Given the description of an element on the screen output the (x, y) to click on. 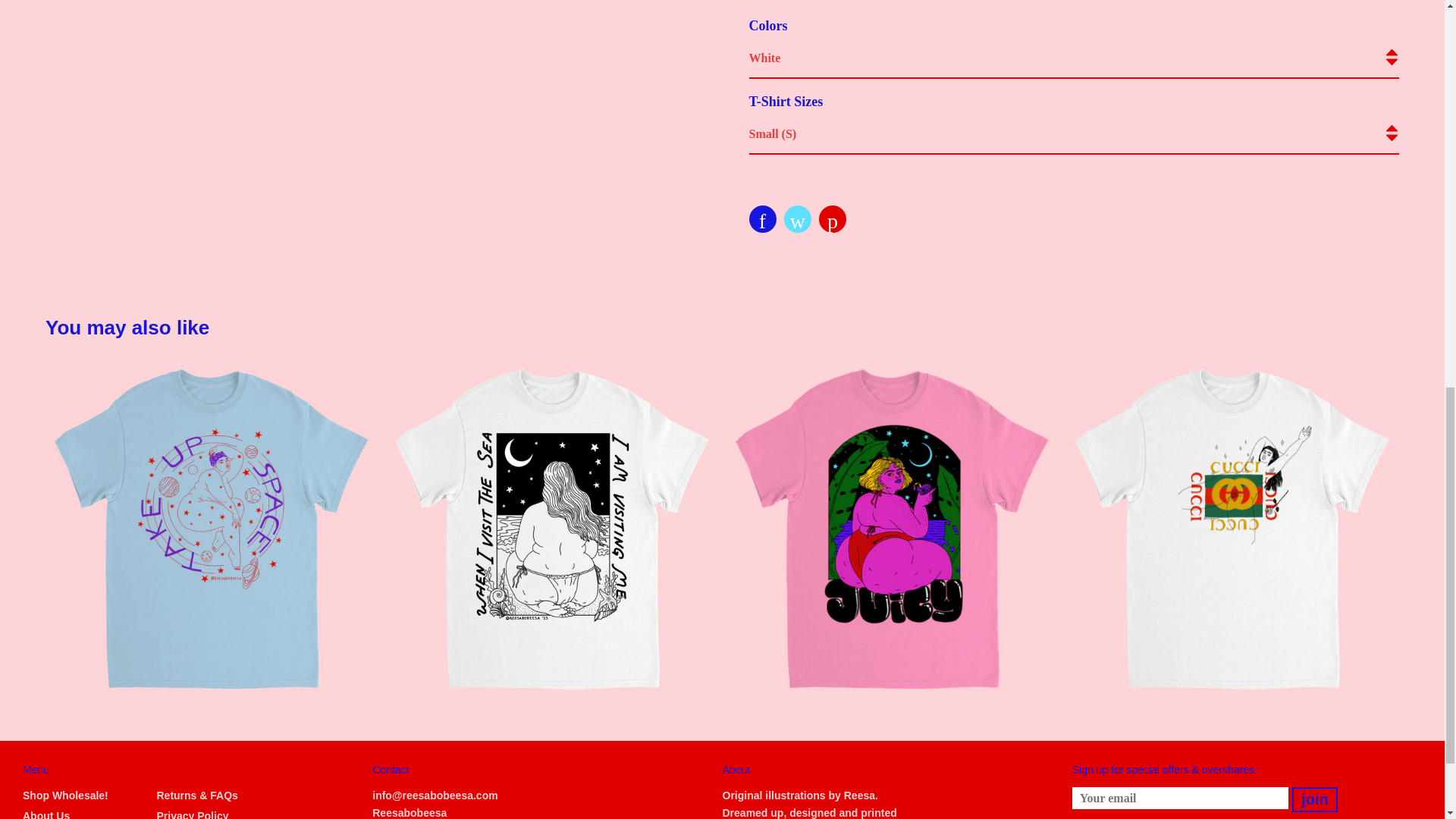
join (1315, 799)
Share on Twitter (797, 218)
Share on Facebook (762, 218)
Share on Pinterest (831, 218)
